Given the description of an element on the screen output the (x, y) to click on. 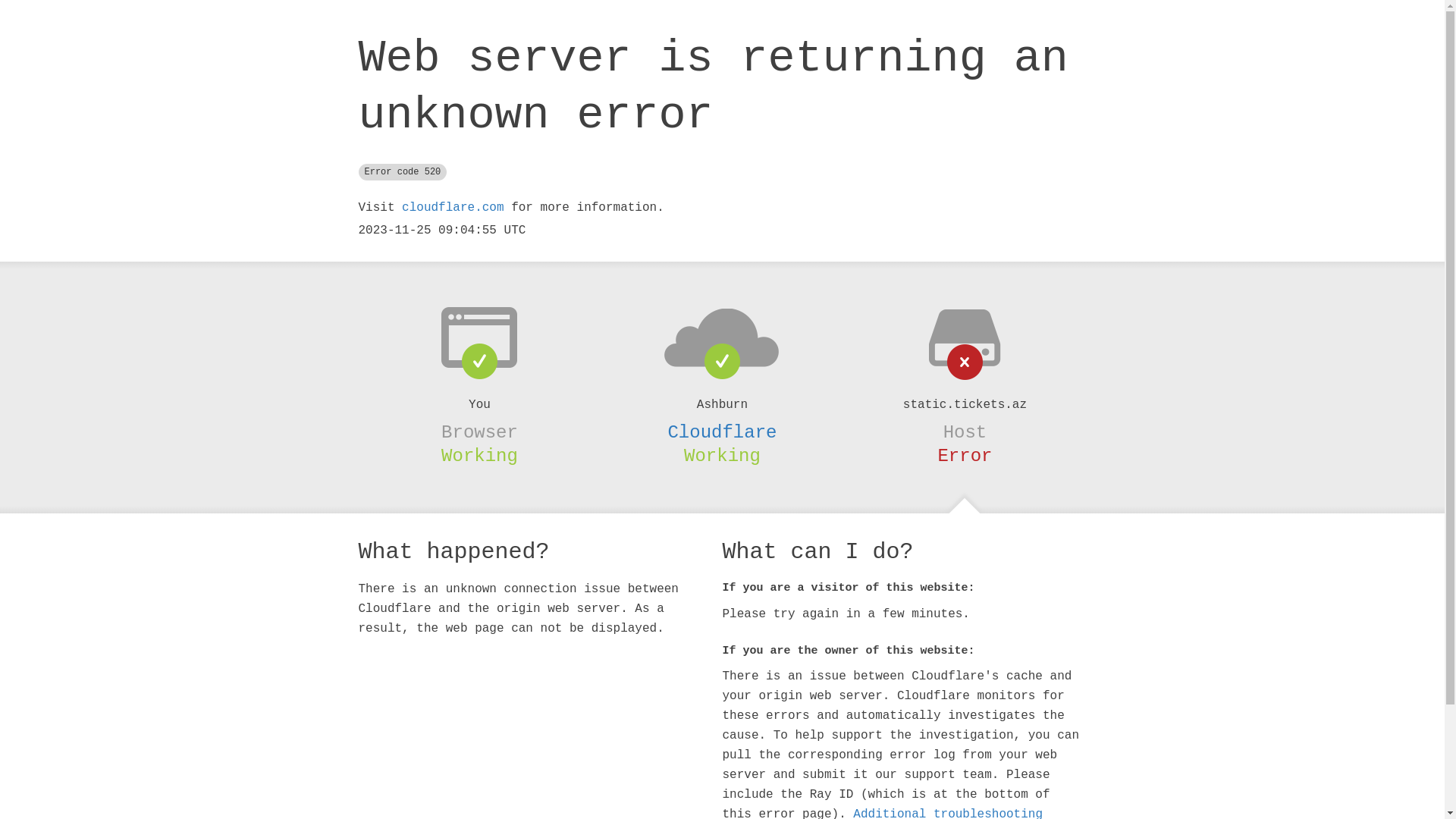
cloudflare.com Element type: text (452, 207)
Cloudflare Element type: text (721, 432)
